Given the description of an element on the screen output the (x, y) to click on. 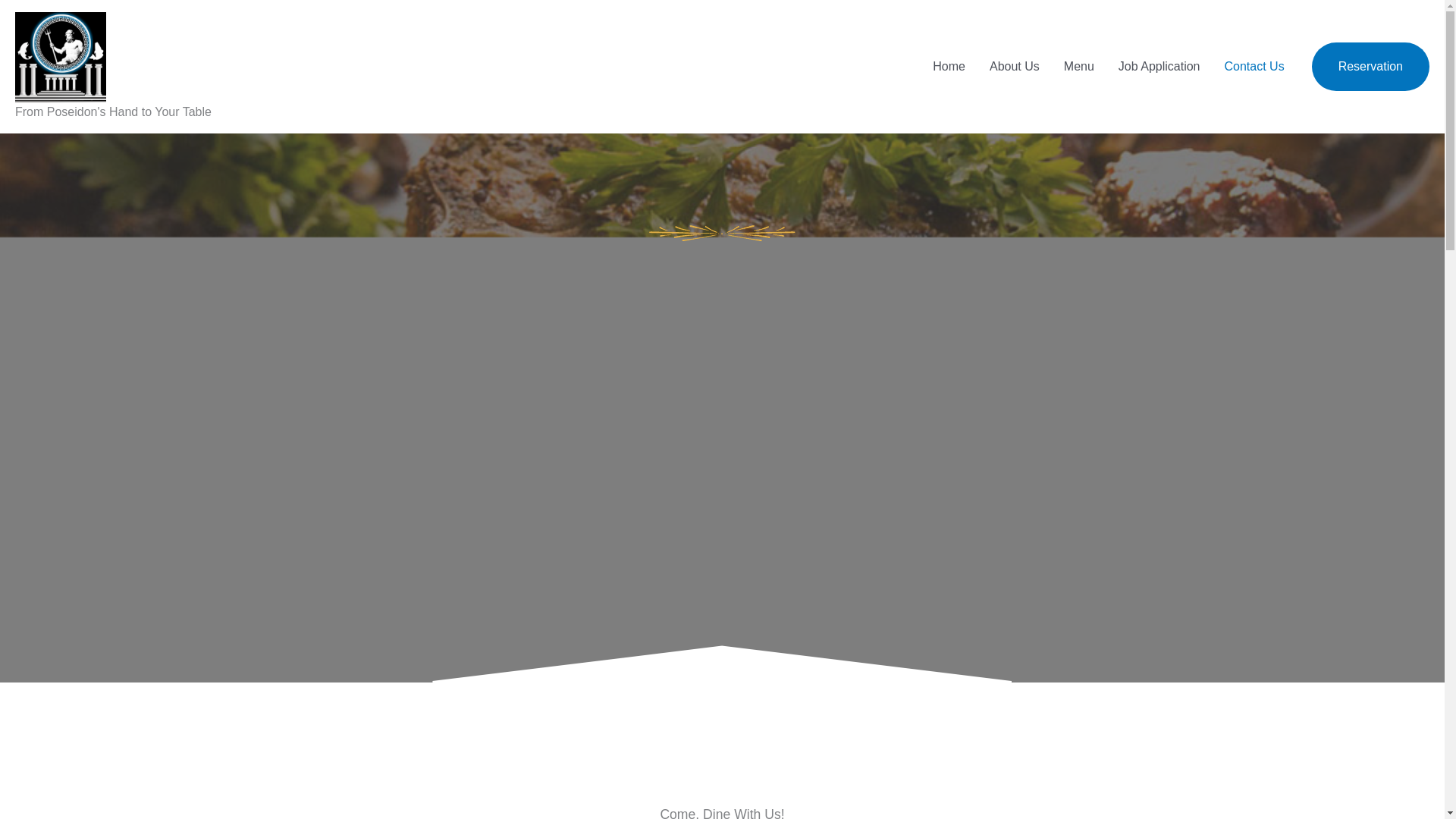
Reservation (1370, 66)
Menu (1078, 66)
Home (948, 66)
Job Application (1159, 66)
Contact Us (1253, 66)
About Us (1013, 66)
